Given the description of an element on the screen output the (x, y) to click on. 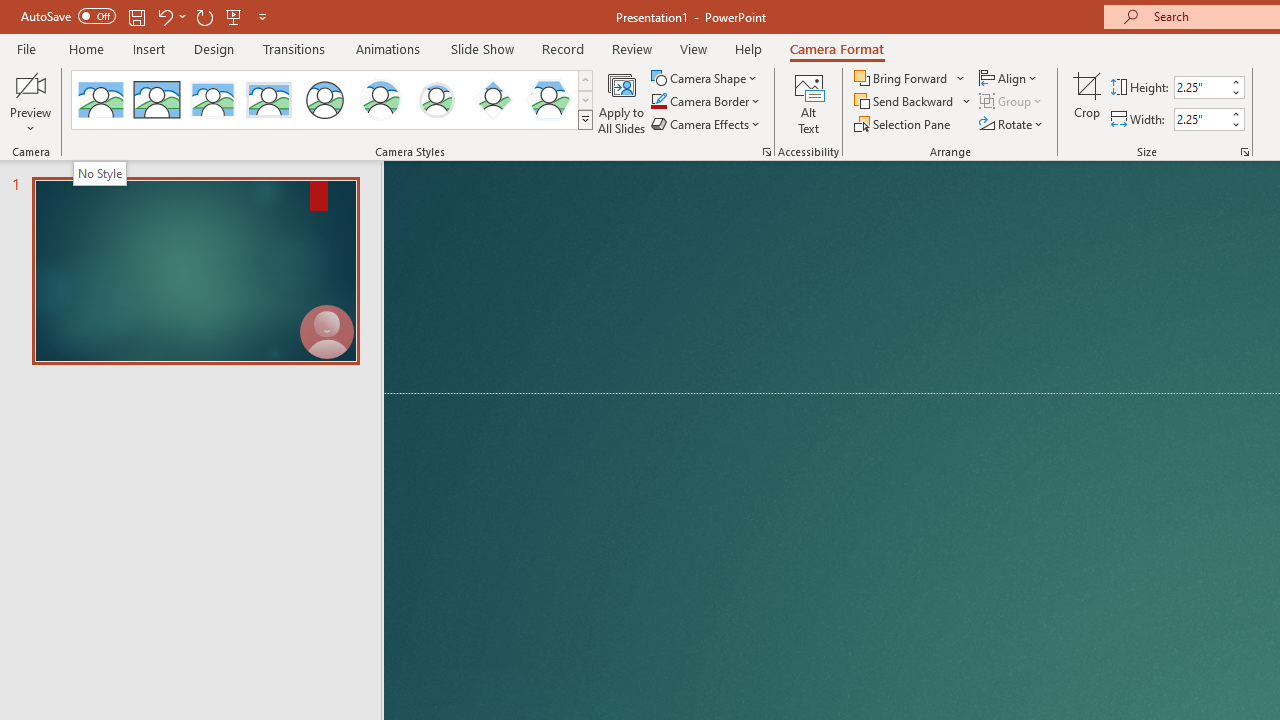
Center Shadow Diamond (492, 100)
Camera Shape (705, 78)
Camera Border (706, 101)
Send Backward (913, 101)
Camera Effects (706, 124)
